Given the description of an element on the screen output the (x, y) to click on. 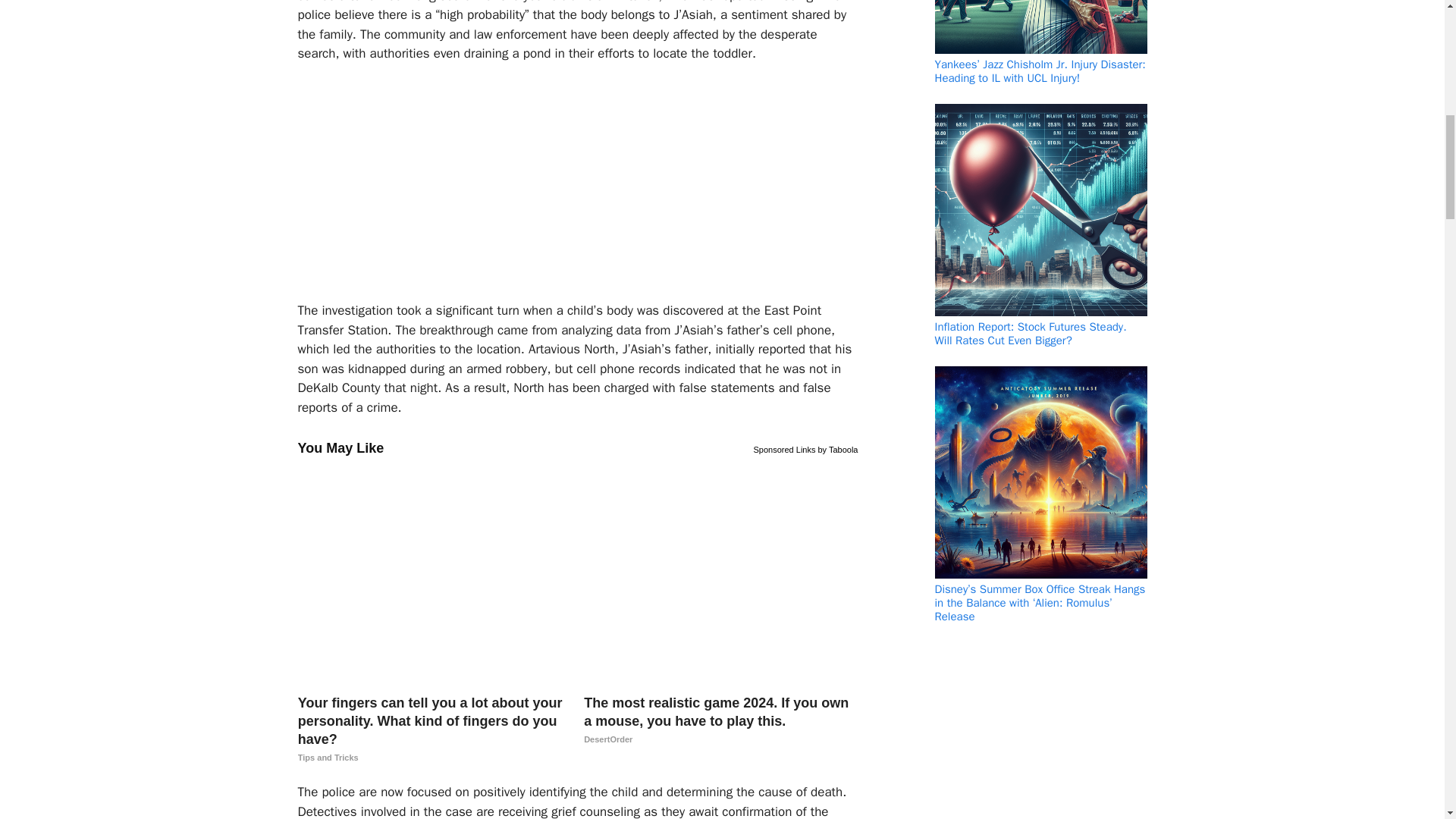
Advertisement (570, 188)
by Taboola (836, 447)
Sponsored Links (784, 447)
